Given the description of an element on the screen output the (x, y) to click on. 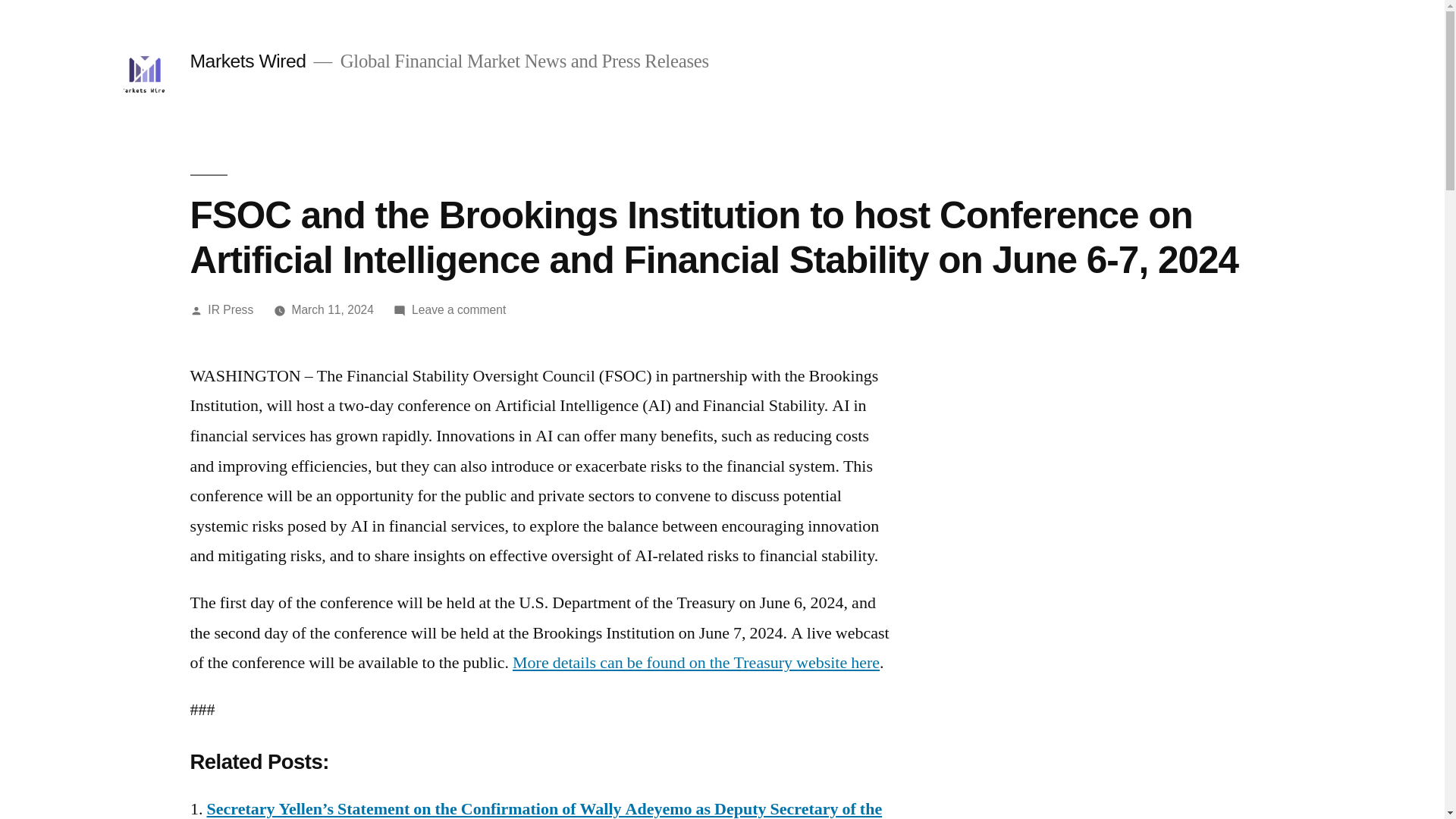
More details can be found on the Treasury website here (695, 662)
IR Press (230, 309)
Markets Wired (247, 60)
March 11, 2024 (332, 309)
